Given the description of an element on the screen output the (x, y) to click on. 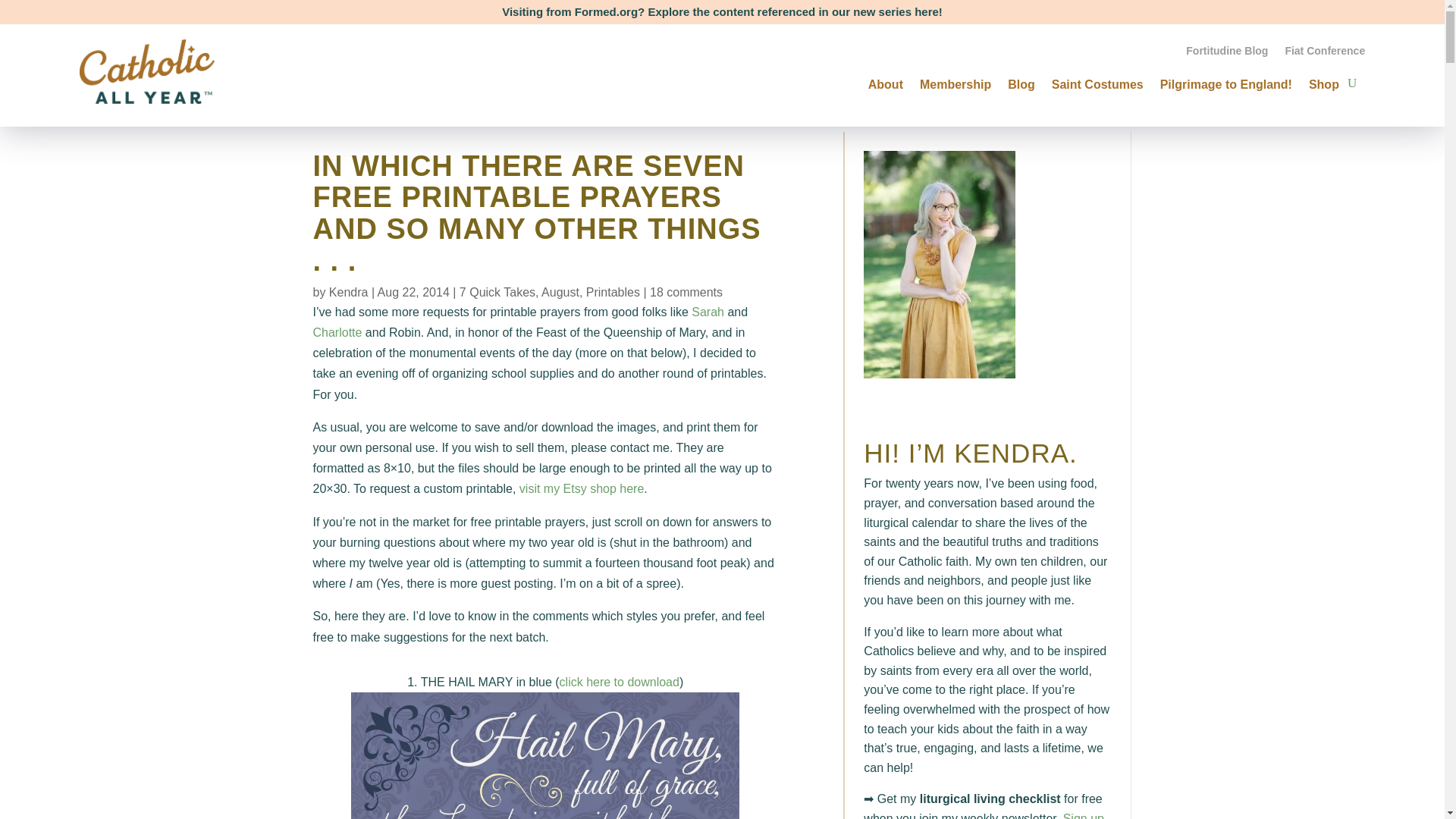
7 Quick Takes (497, 291)
visit my Etsy shop here (582, 488)
click here to download (619, 681)
Sarah (707, 311)
Shop (1323, 81)
Pilgrimage to England! (1226, 81)
CAY-logo-2color-main (147, 71)
Fiat Conference (1324, 53)
Charlotte (337, 332)
Membership (955, 81)
